Given the description of an element on the screen output the (x, y) to click on. 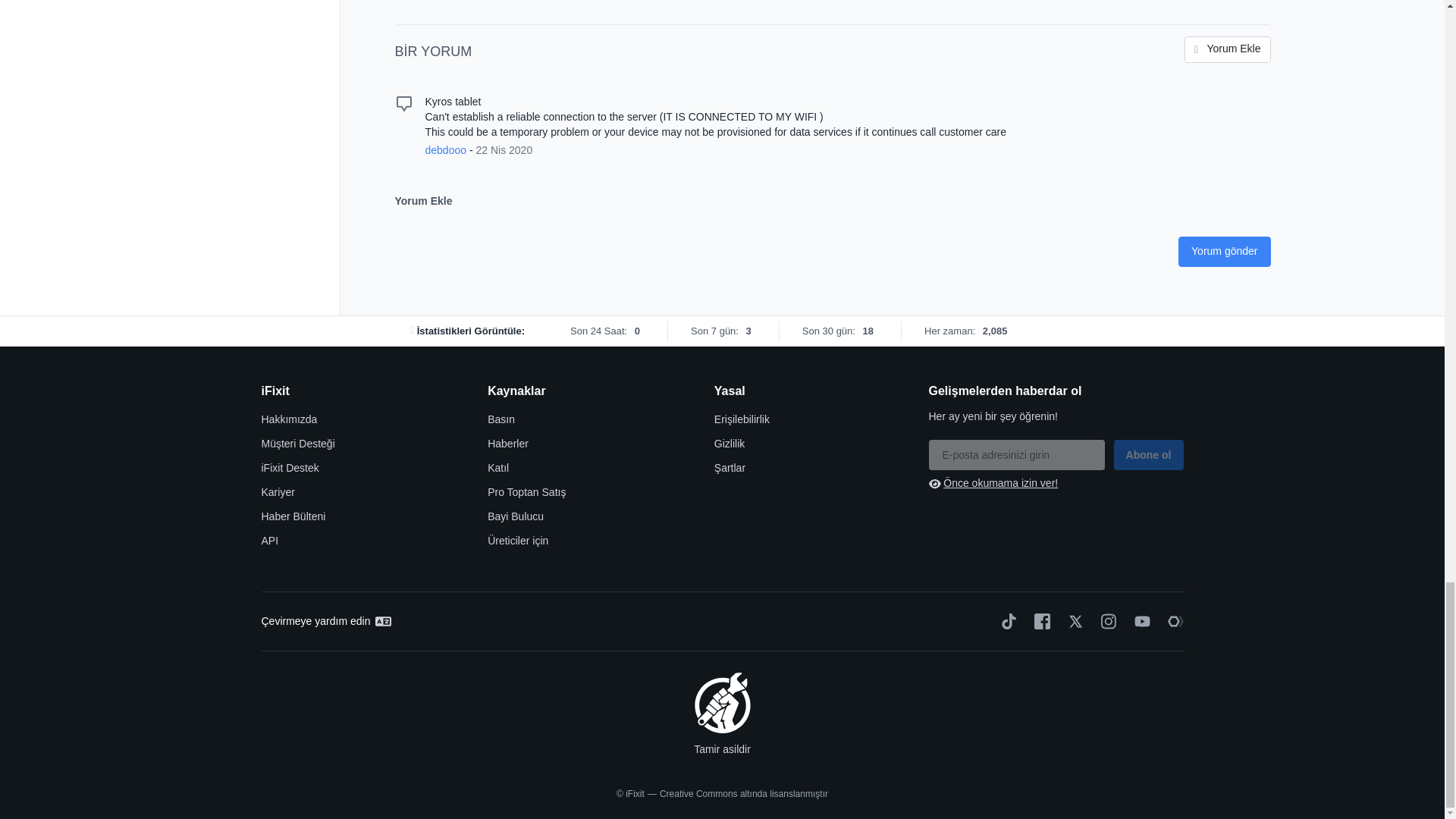
Yorum Ekle (1228, 49)
Yorum Ekle (1228, 49)
